Given the description of an element on the screen output the (x, y) to click on. 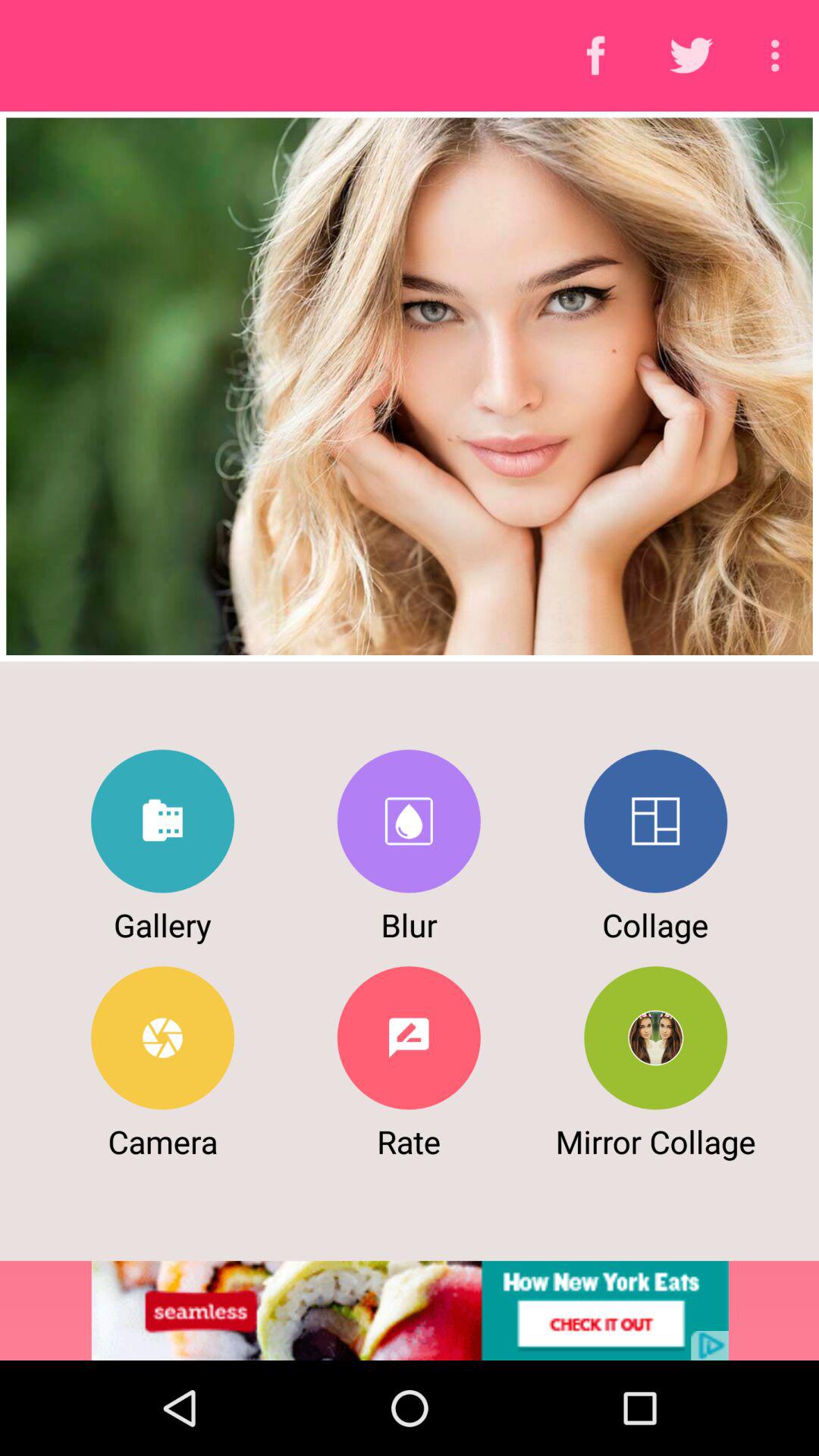
collage button (655, 820)
